Given the description of an element on the screen output the (x, y) to click on. 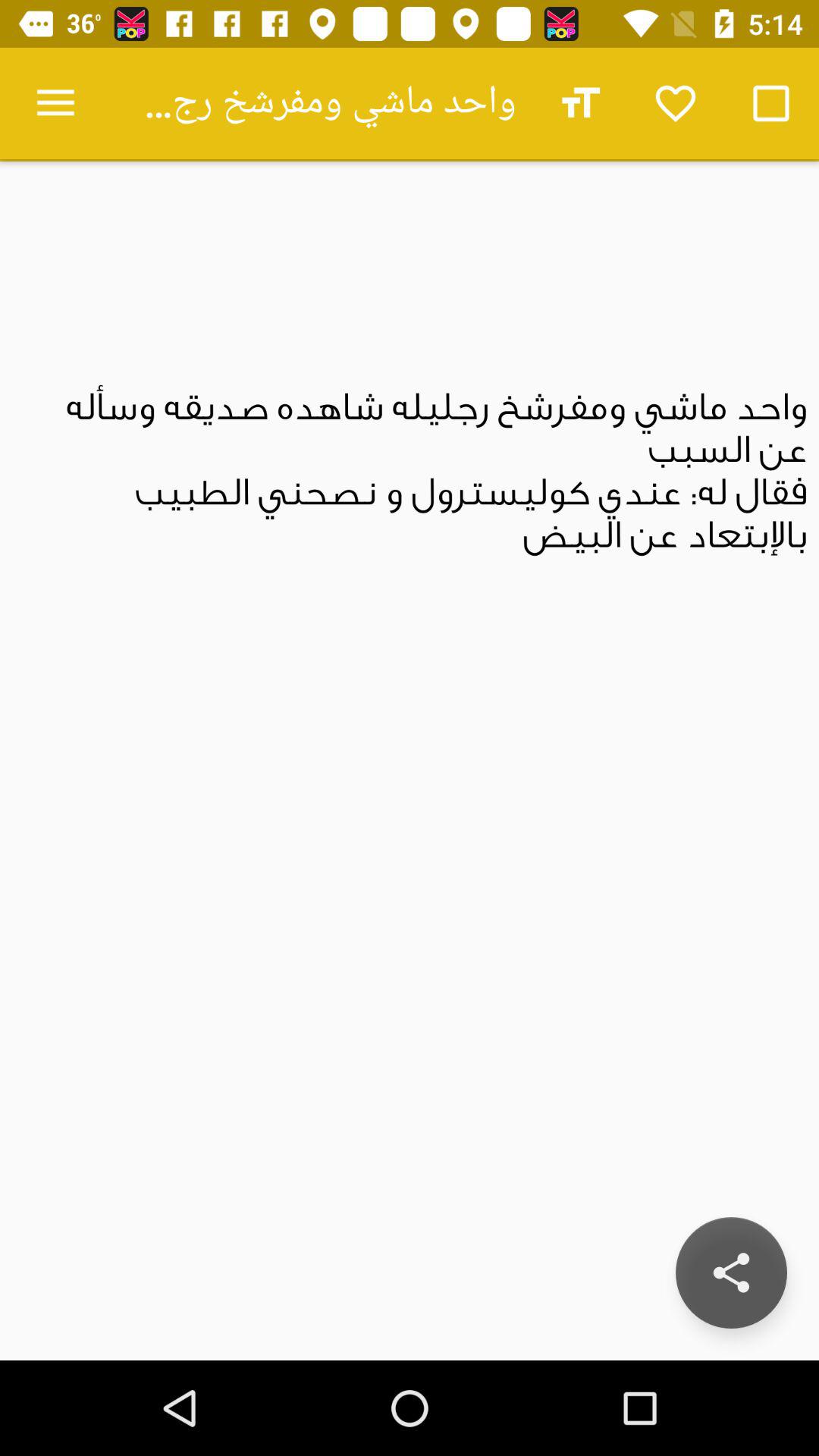
click the icon at the bottom right corner (731, 1272)
